Given the description of an element on the screen output the (x, y) to click on. 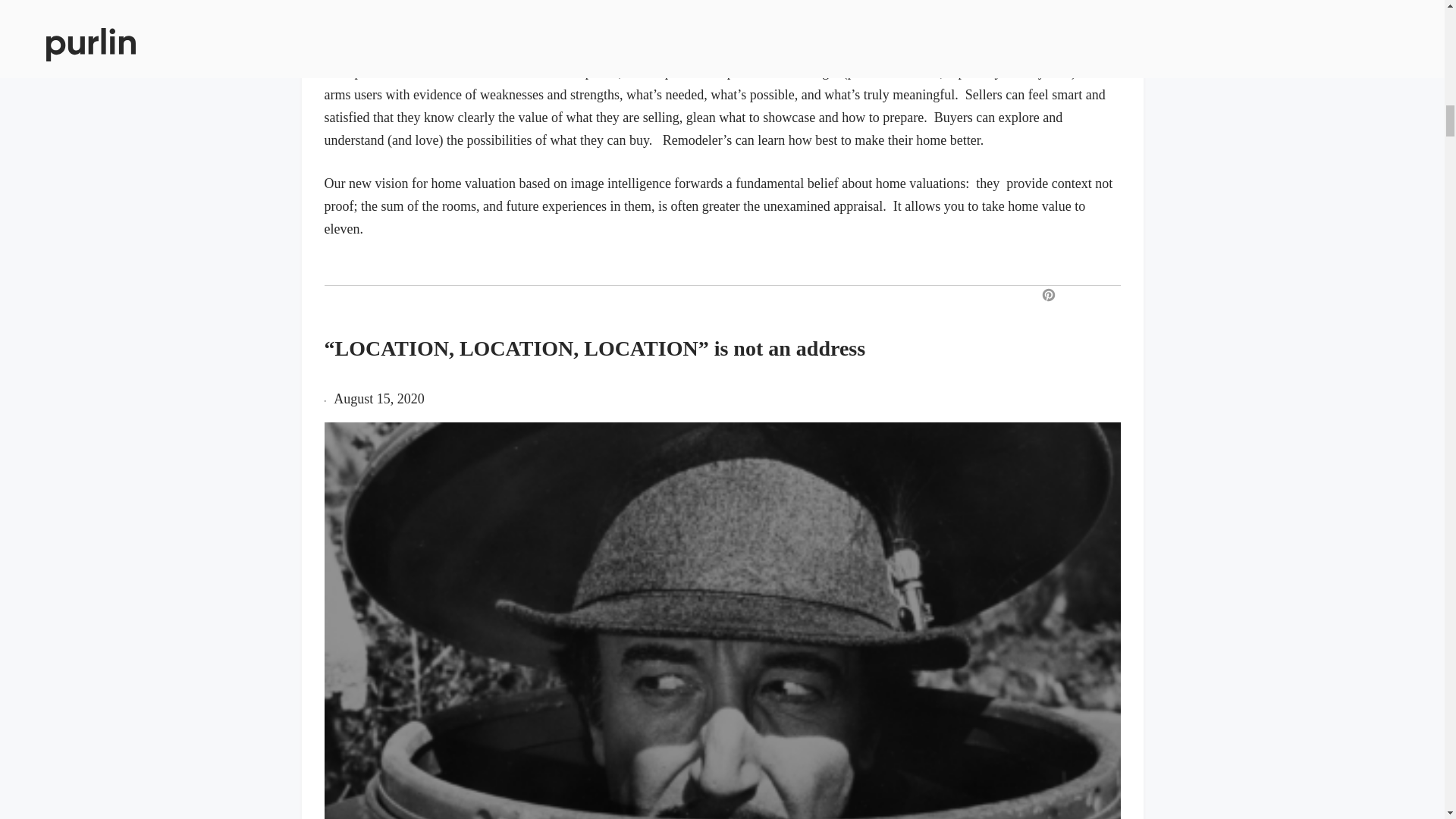
Twitter (1101, 295)
Twitter (1101, 295)
LinkedIn (1127, 295)
Pinterest (1047, 295)
Pinterest (1047, 295)
Facebook (1074, 295)
Facebook (1074, 295)
August 15, 2020 (379, 398)
LinkedIn (1127, 295)
